Given the description of an element on the screen output the (x, y) to click on. 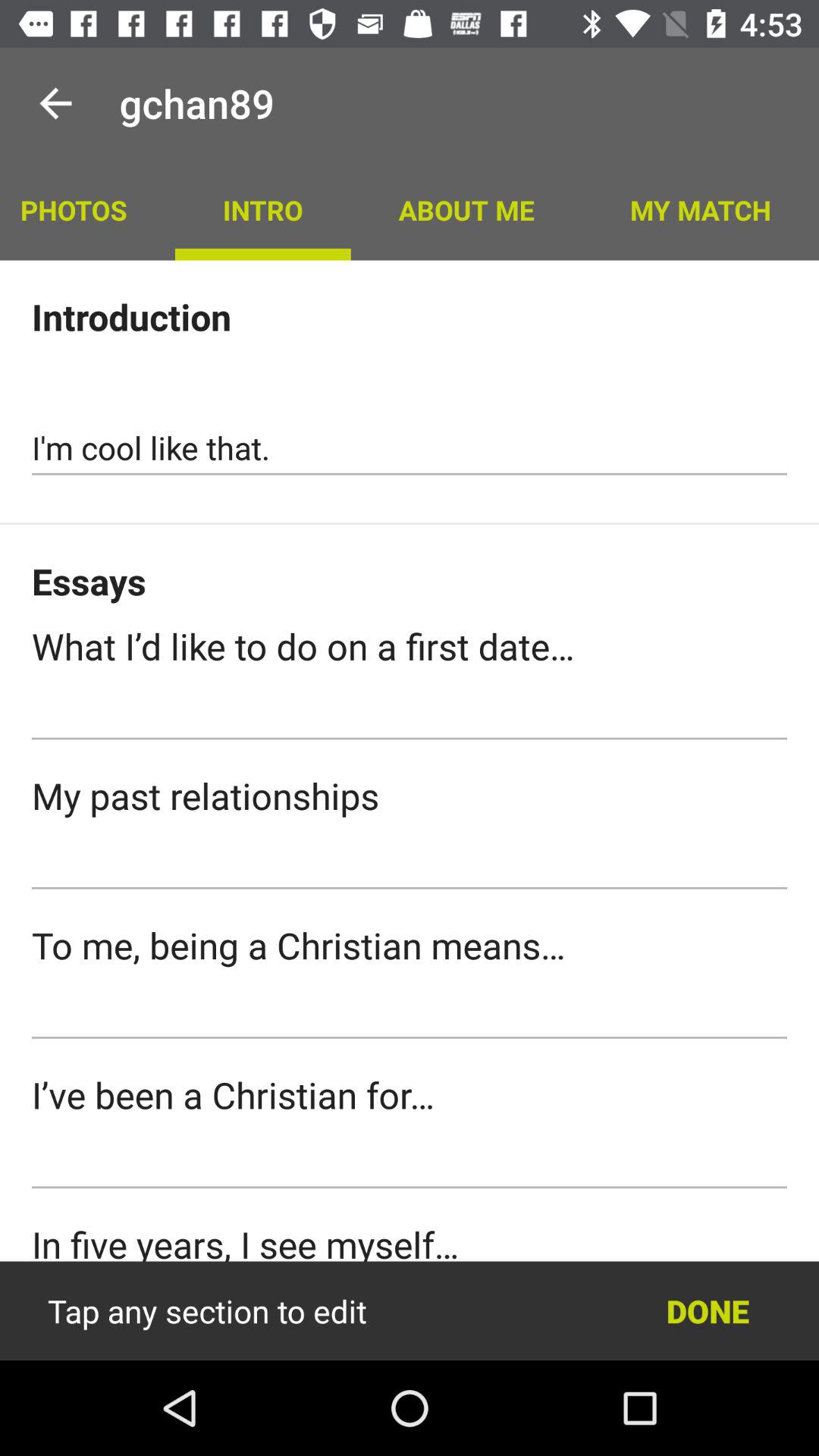
submit a response (409, 712)
